Given the description of an element on the screen output the (x, y) to click on. 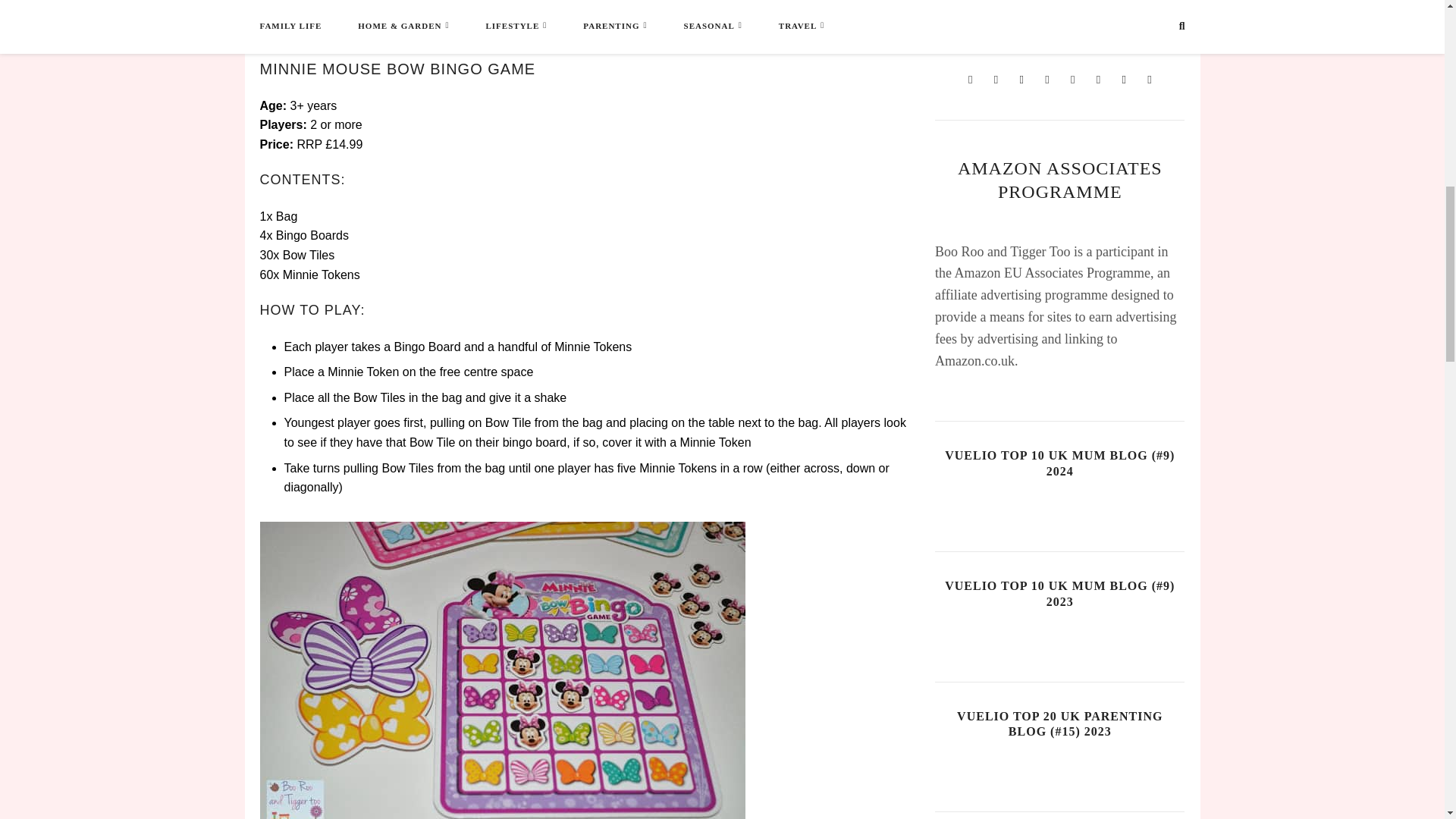
Minnie Mouse Bow Bingo Game (501, 18)
